Given the description of an element on the screen output the (x, y) to click on. 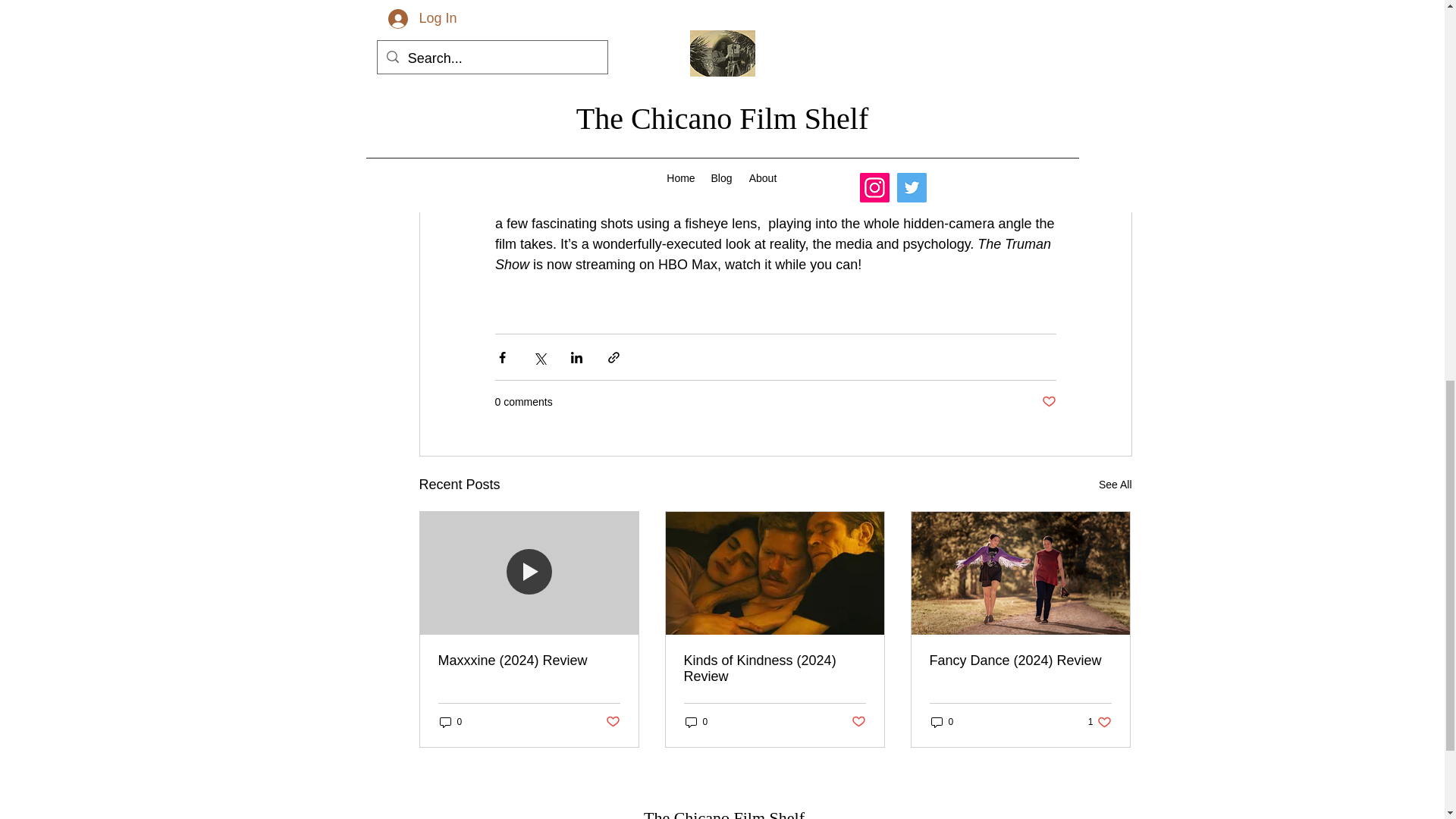
Post not marked as liked (612, 722)
See All (1099, 721)
0 (1115, 485)
0 (697, 721)
Post not marked as liked (451, 721)
0 (857, 722)
Post not marked as liked (942, 721)
